Given the description of an element on the screen output the (x, y) to click on. 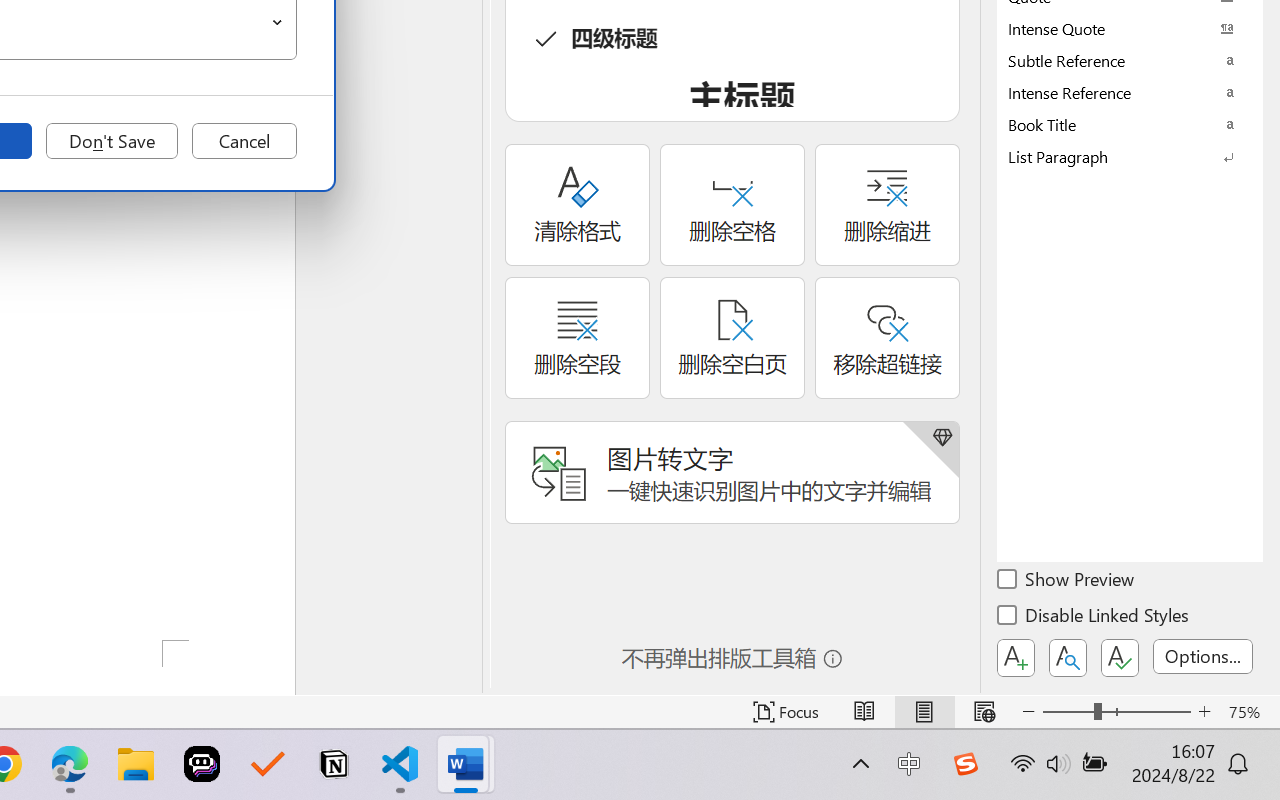
Poe (201, 764)
Class: NetUIButton (1119, 657)
Intense Reference (1130, 92)
Web Layout (984, 712)
Don't Save (111, 141)
Intense Quote (1130, 28)
